Given the description of an element on the screen output the (x, y) to click on. 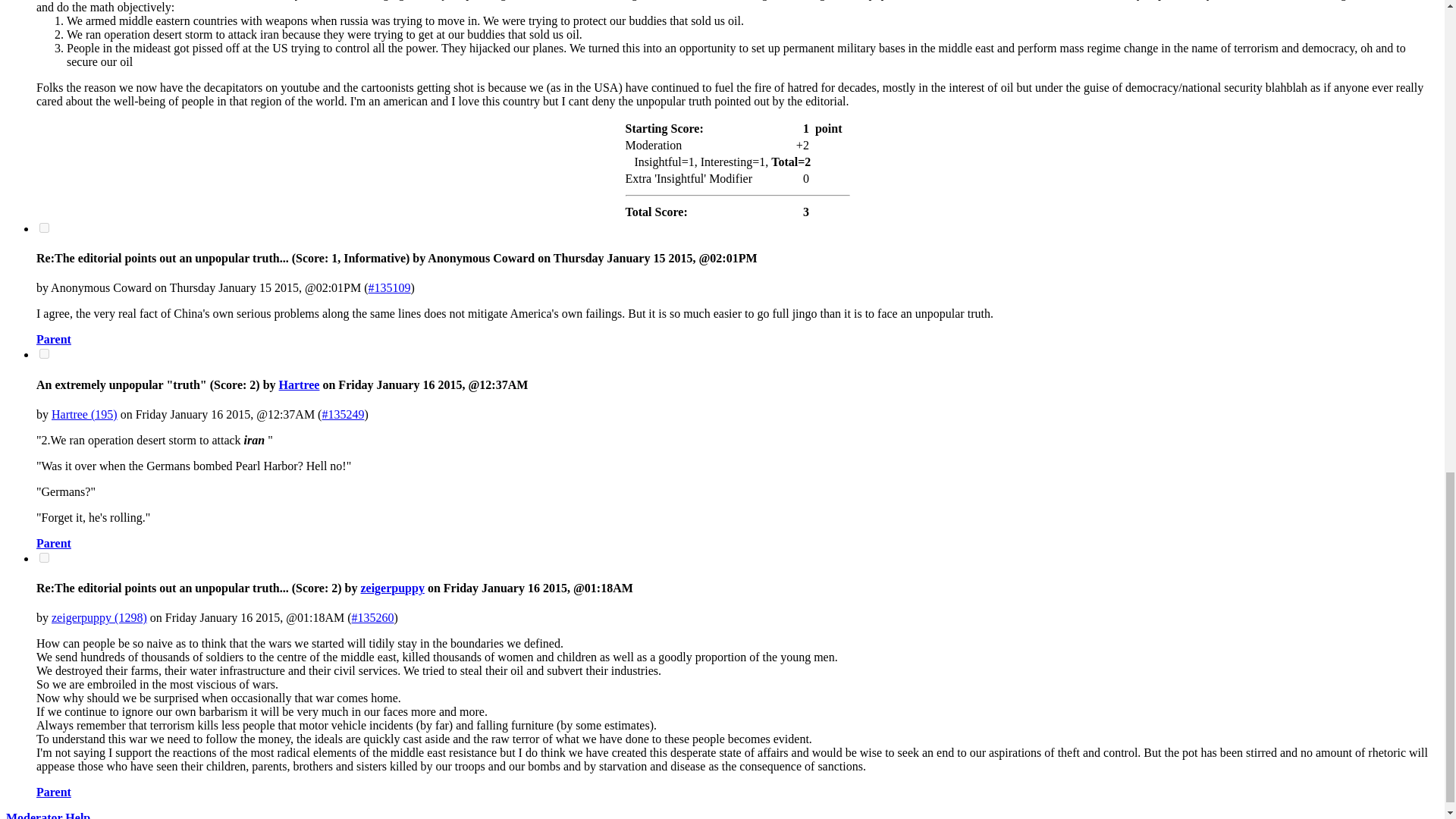
on (44, 353)
on (44, 557)
on (44, 227)
